Given the description of an element on the screen output the (x, y) to click on. 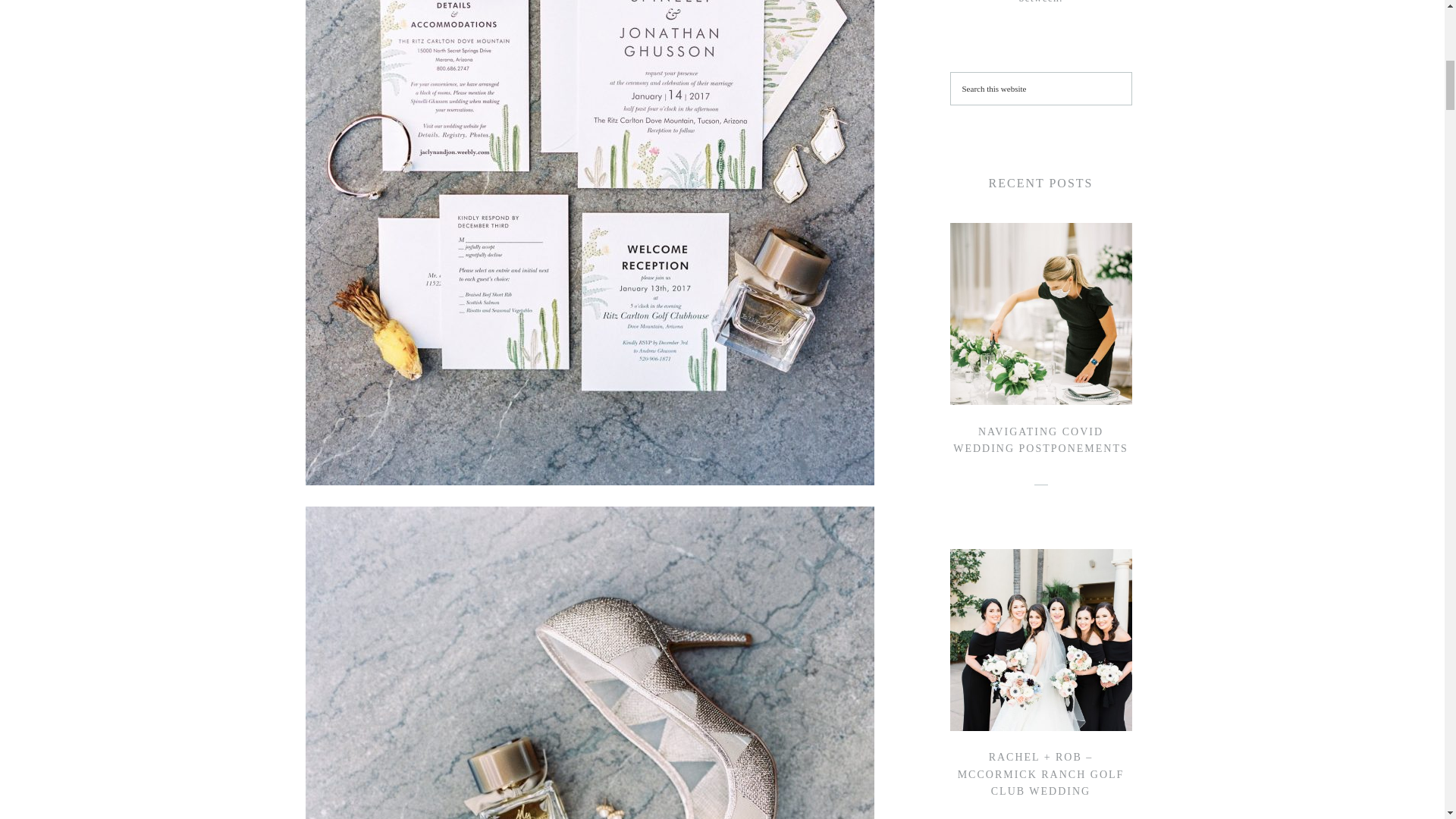
NAVIGATING COVID WEDDING POSTPONEMENTS (1040, 439)
